Given the description of an element on the screen output the (x, y) to click on. 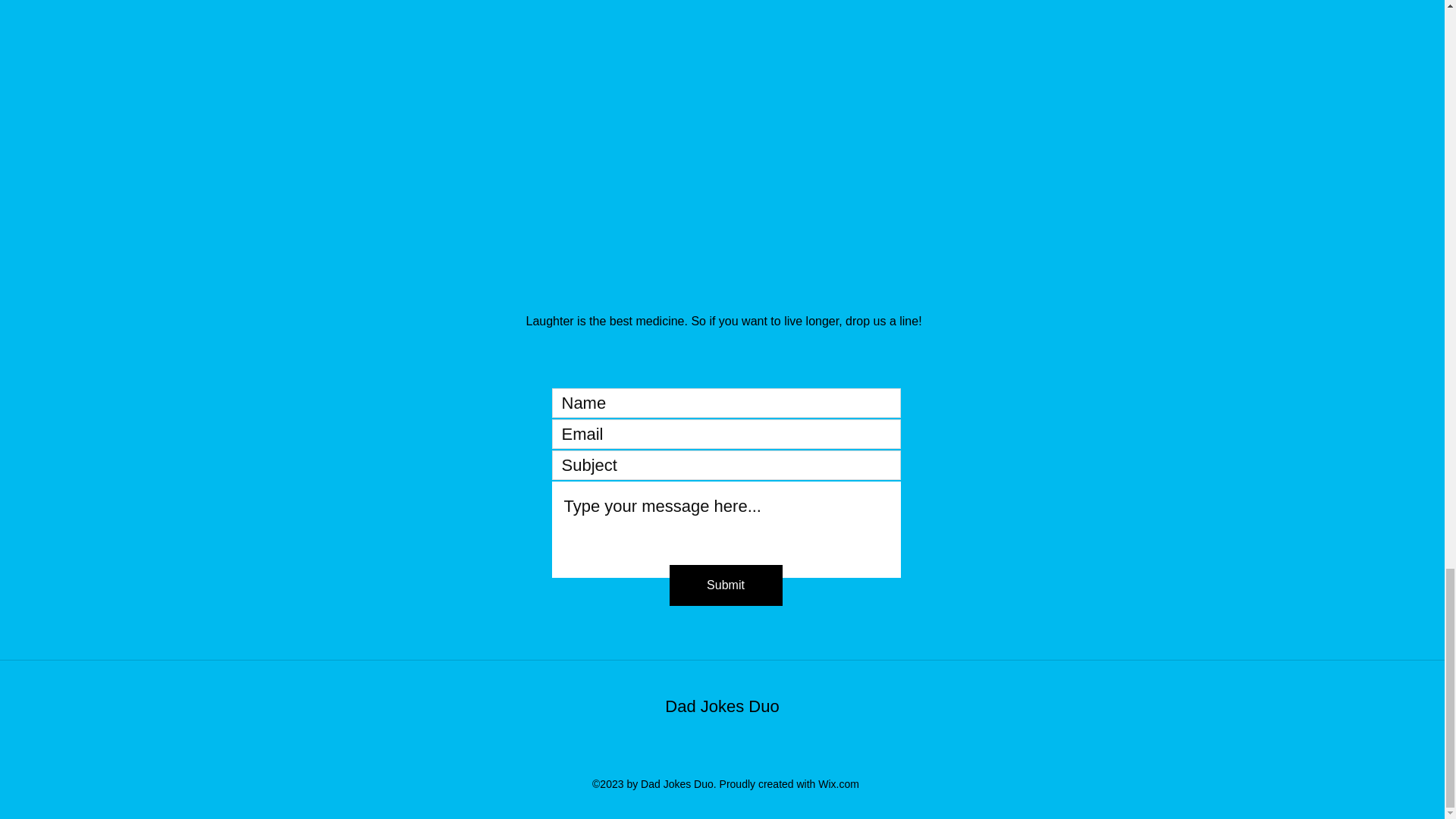
Submit (724, 585)
Embedded Content (1204, 109)
Embedded Content (721, 109)
Embedded Content (239, 109)
Dad Jokes Duo (721, 705)
